Given the description of an element on the screen output the (x, y) to click on. 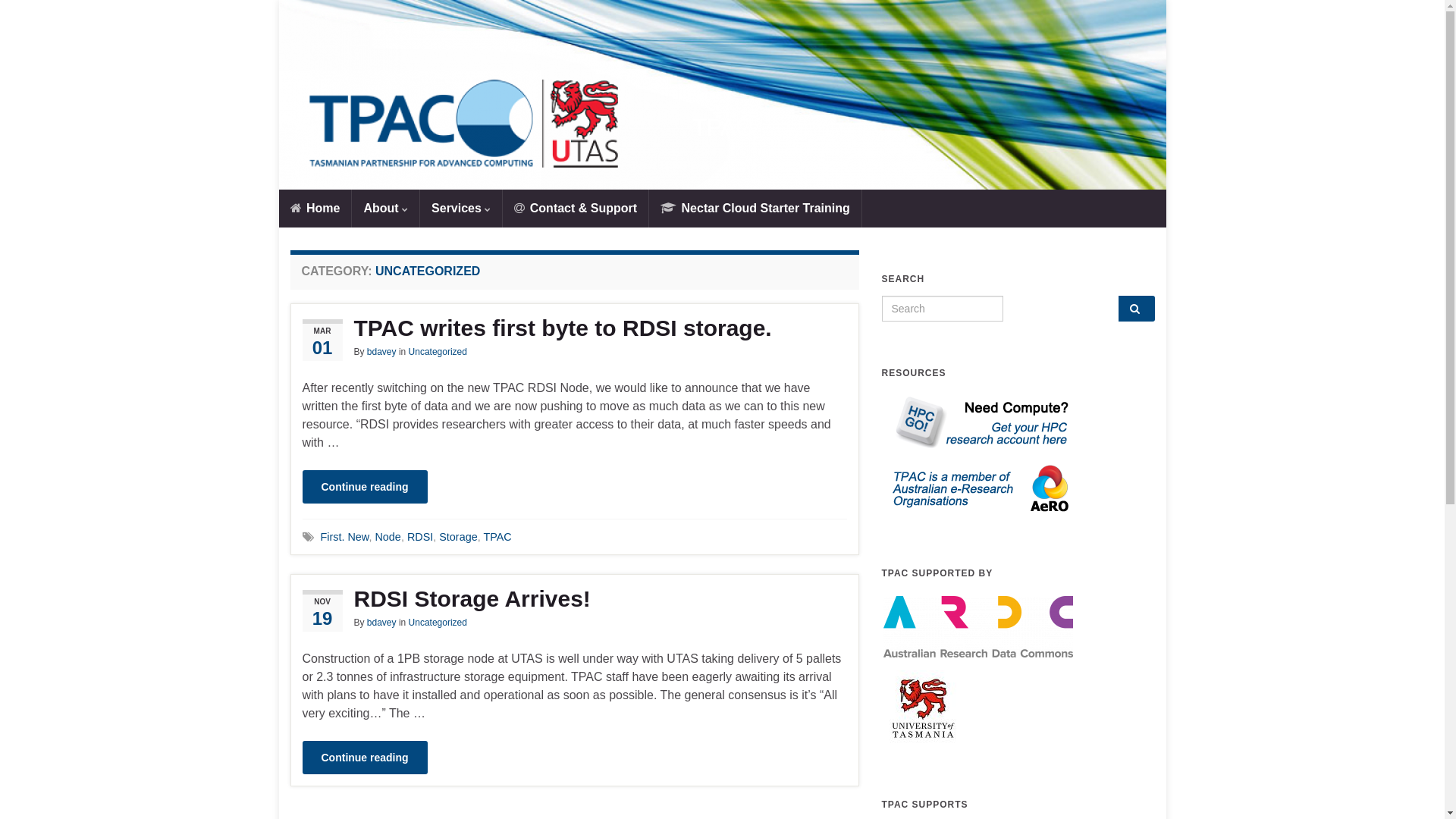
RDSI Storage Arrives! Element type: text (573, 598)
TPAC Element type: text (497, 536)
RDSI Element type: text (420, 536)
Home Element type: text (315, 208)
Australian e-Research Organisations Element type: hover (977, 487)
TPAC Element type: hover (722, 94)
Uncategorized Element type: text (437, 351)
Services Element type: text (461, 208)
TPAC writes first byte to RDSI storage. Element type: text (573, 328)
About Element type: text (385, 208)
bdavey Element type: text (381, 351)
TPAC is supported by the University of Tasmania Element type: hover (922, 708)
Uncategorized Element type: text (437, 622)
HPC Account Signup Element type: hover (977, 421)
First. New Element type: text (344, 536)
TPAC Element type: text (722, 127)
Australian e-Research Organisations Element type: hover (977, 487)
Contact & Support Element type: text (575, 208)
HPC Account Signup Element type: hover (977, 421)
Continue reading Element type: text (363, 757)
Storage Element type: text (457, 536)
bdavey Element type: text (381, 622)
Continue reading Element type: text (363, 486)
TPAC is supported by the University of Tasmania Element type: hover (922, 707)
Tags Element type: hover (307, 536)
Nectar Cloud Starter Training Element type: text (755, 208)
Node Element type: text (387, 536)
